Given the description of an element on the screen output the (x, y) to click on. 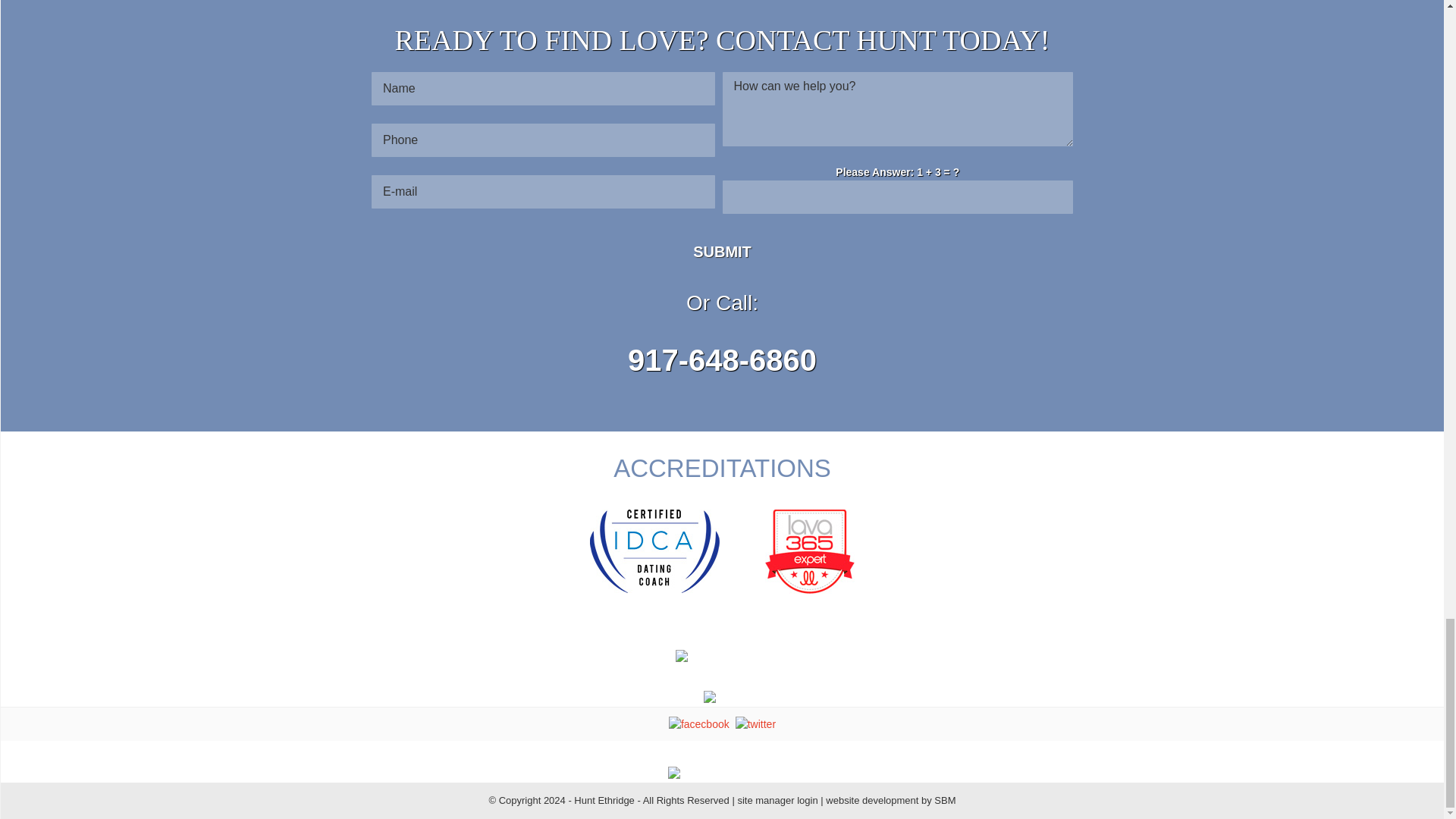
Submit (722, 252)
website development by SBM (890, 799)
site manager login (776, 799)
917-648-6860 (721, 359)
Submit (722, 252)
